Given the description of an element on the screen output the (x, y) to click on. 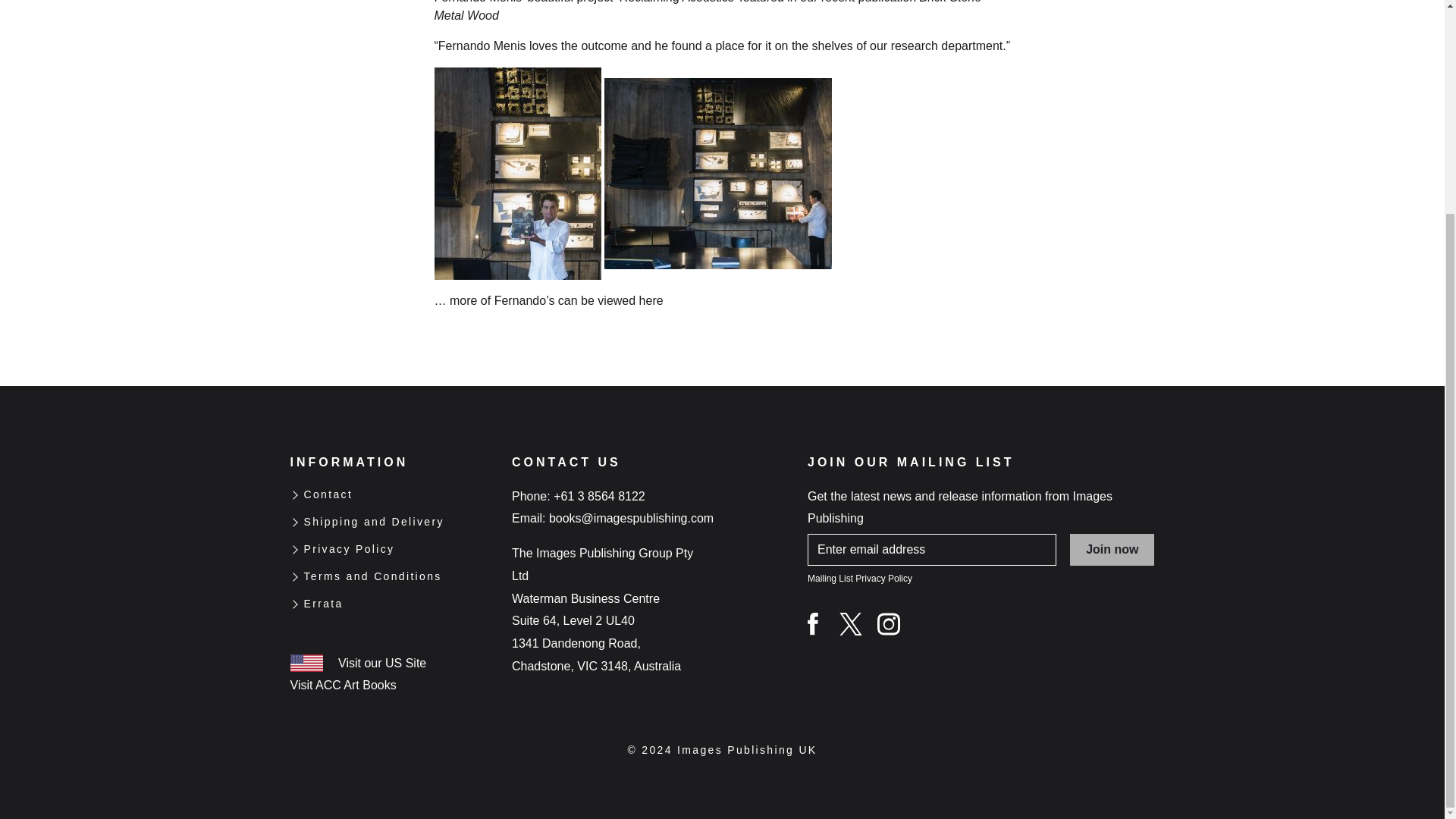
Shipping and Delivery (373, 522)
Join now (1112, 549)
Contact (327, 495)
Brick Stone Metal Wood (707, 11)
Privacy Policy (348, 549)
here (651, 300)
Terms and Conditions (371, 577)
